Given the description of an element on the screen output the (x, y) to click on. 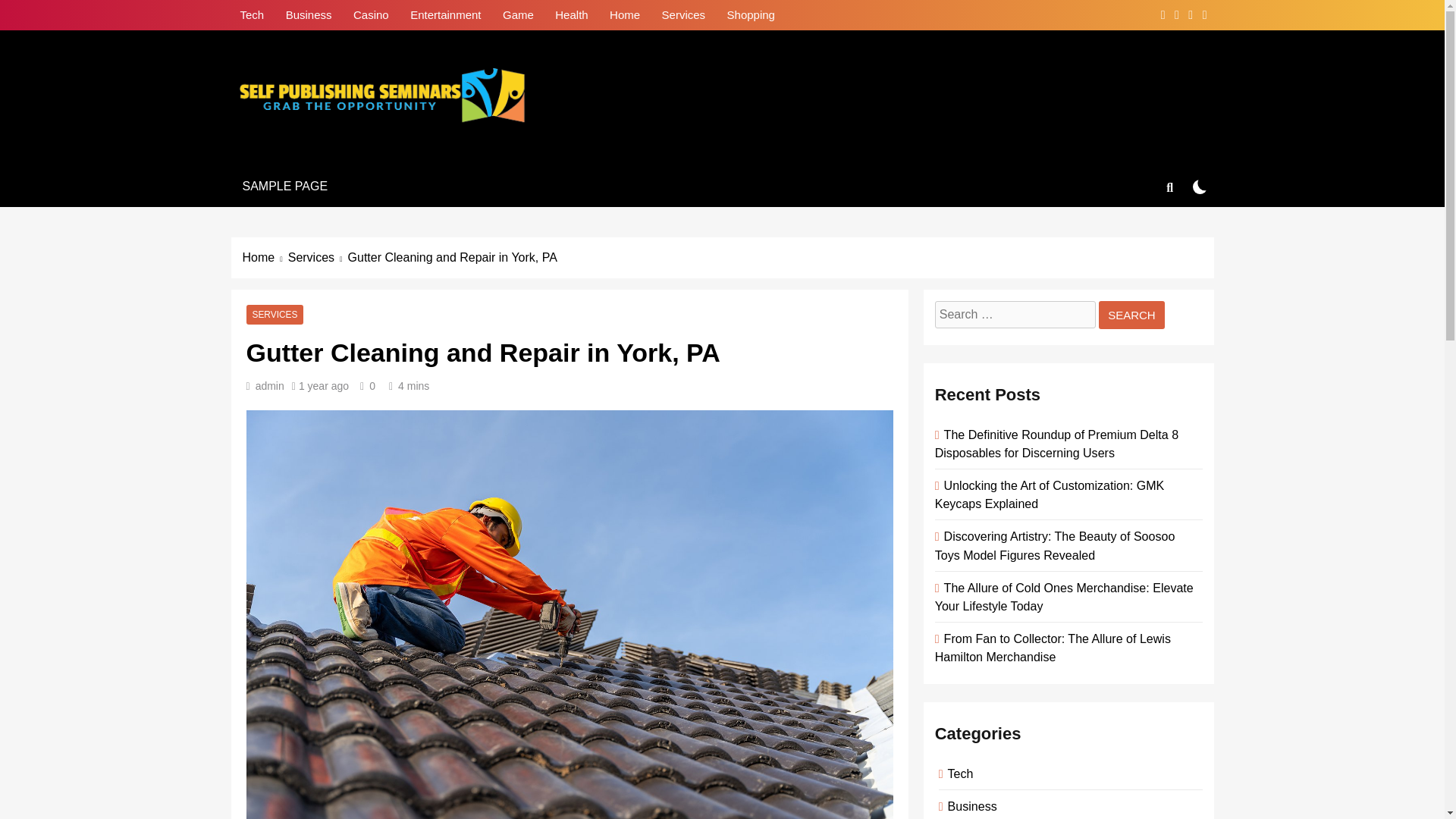
SAMPLE PAGE (284, 186)
Services (317, 257)
Services (683, 14)
admin (269, 386)
Search (1131, 315)
Search (1131, 315)
1 year ago (323, 386)
Business (308, 14)
on (1199, 186)
Search (1131, 315)
Casino (370, 14)
Entertainment (445, 14)
Self Publishing Seminars (416, 152)
SERVICES (274, 314)
Tech (251, 14)
